Given the description of an element on the screen output the (x, y) to click on. 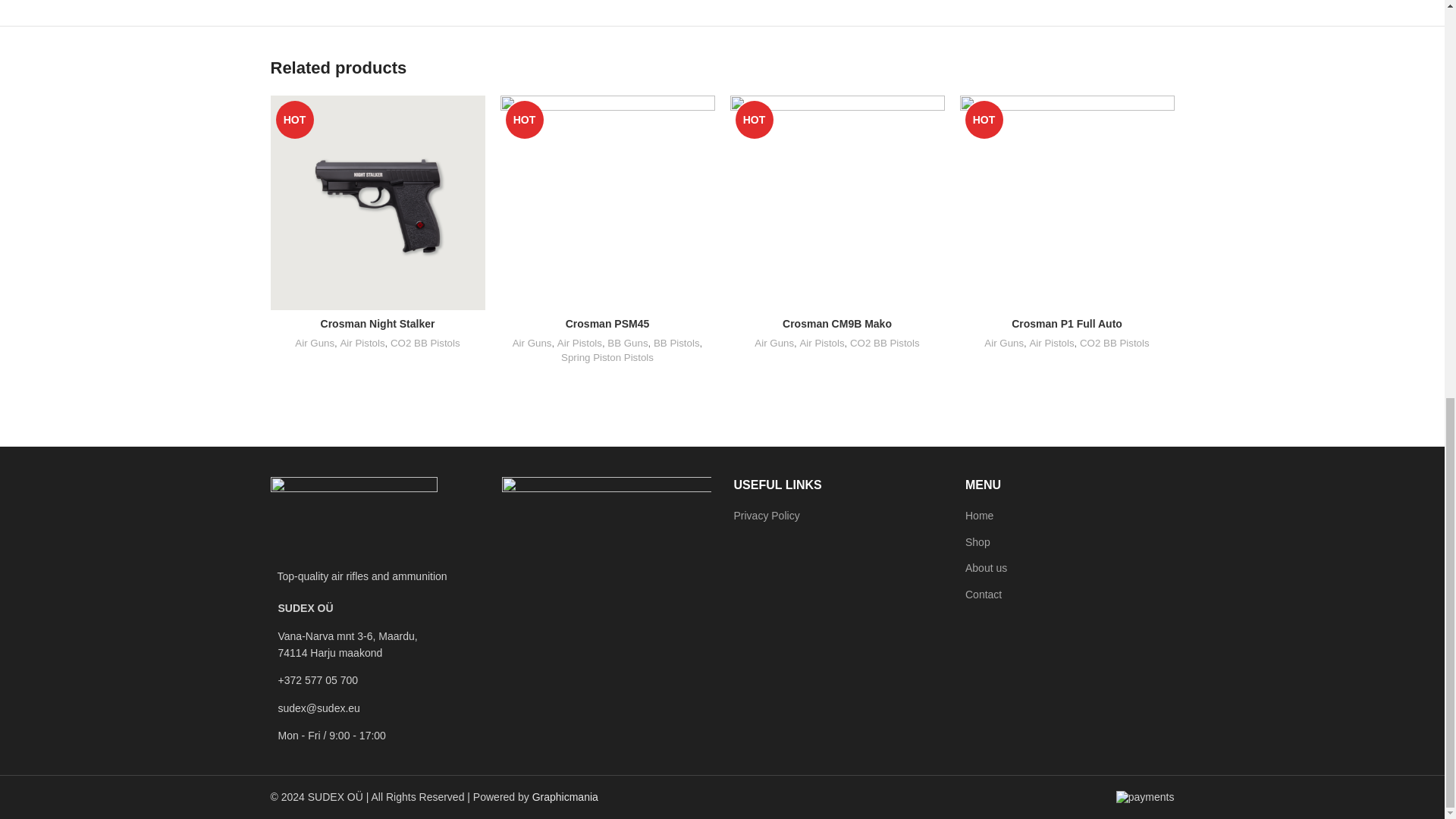
Air Pistols (361, 343)
BB Guns (627, 343)
Air Guns (531, 343)
HOT (607, 202)
CO2 BB Pistols (425, 343)
HOT (376, 202)
Crosman Night Stalker (377, 323)
Air Pistols (579, 343)
BB Pistols (676, 343)
Air Guns (314, 343)
